Given the description of an element on the screen output the (x, y) to click on. 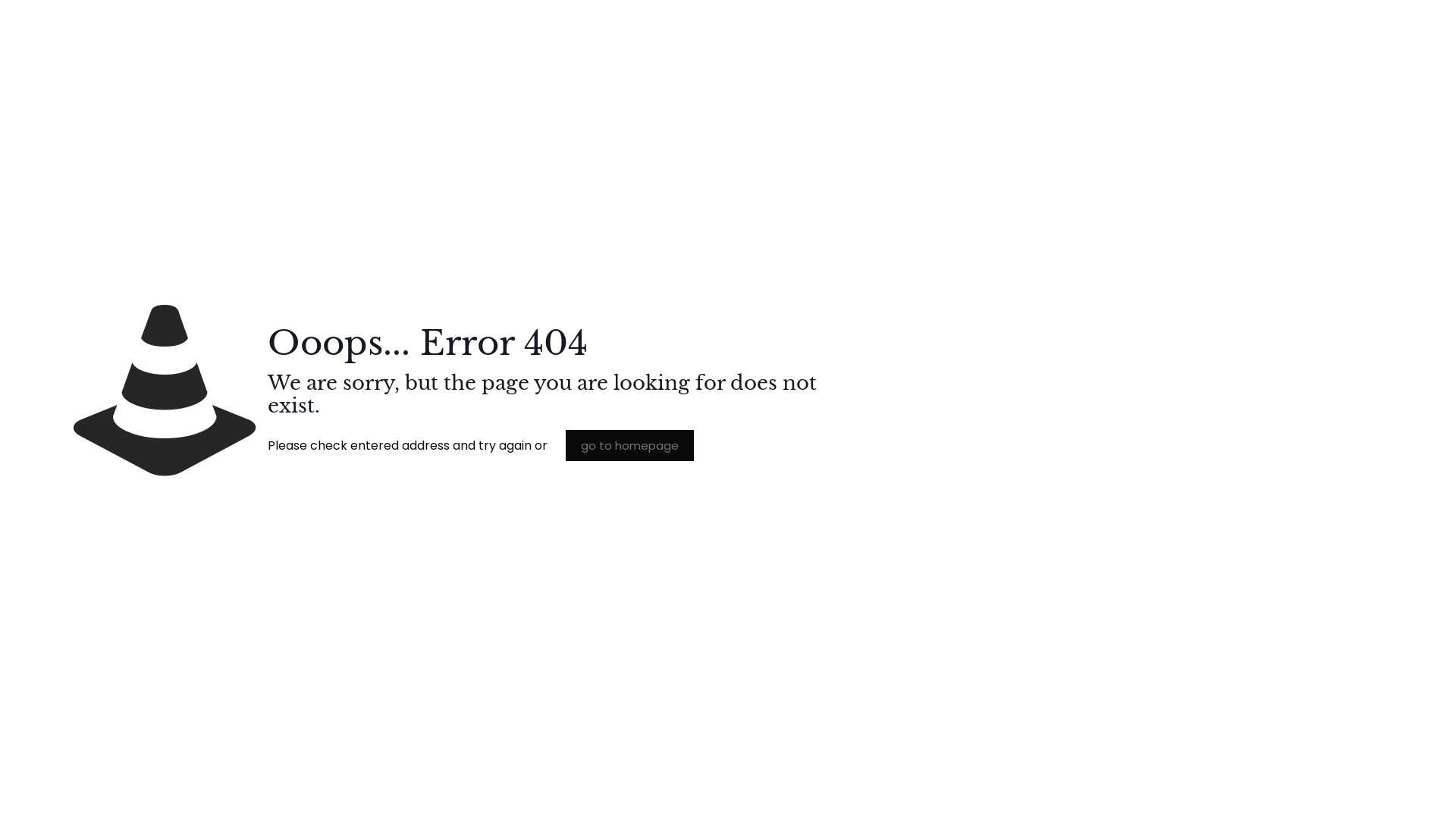
go to homepage Element type: text (629, 445)
